Given the description of an element on the screen output the (x, y) to click on. 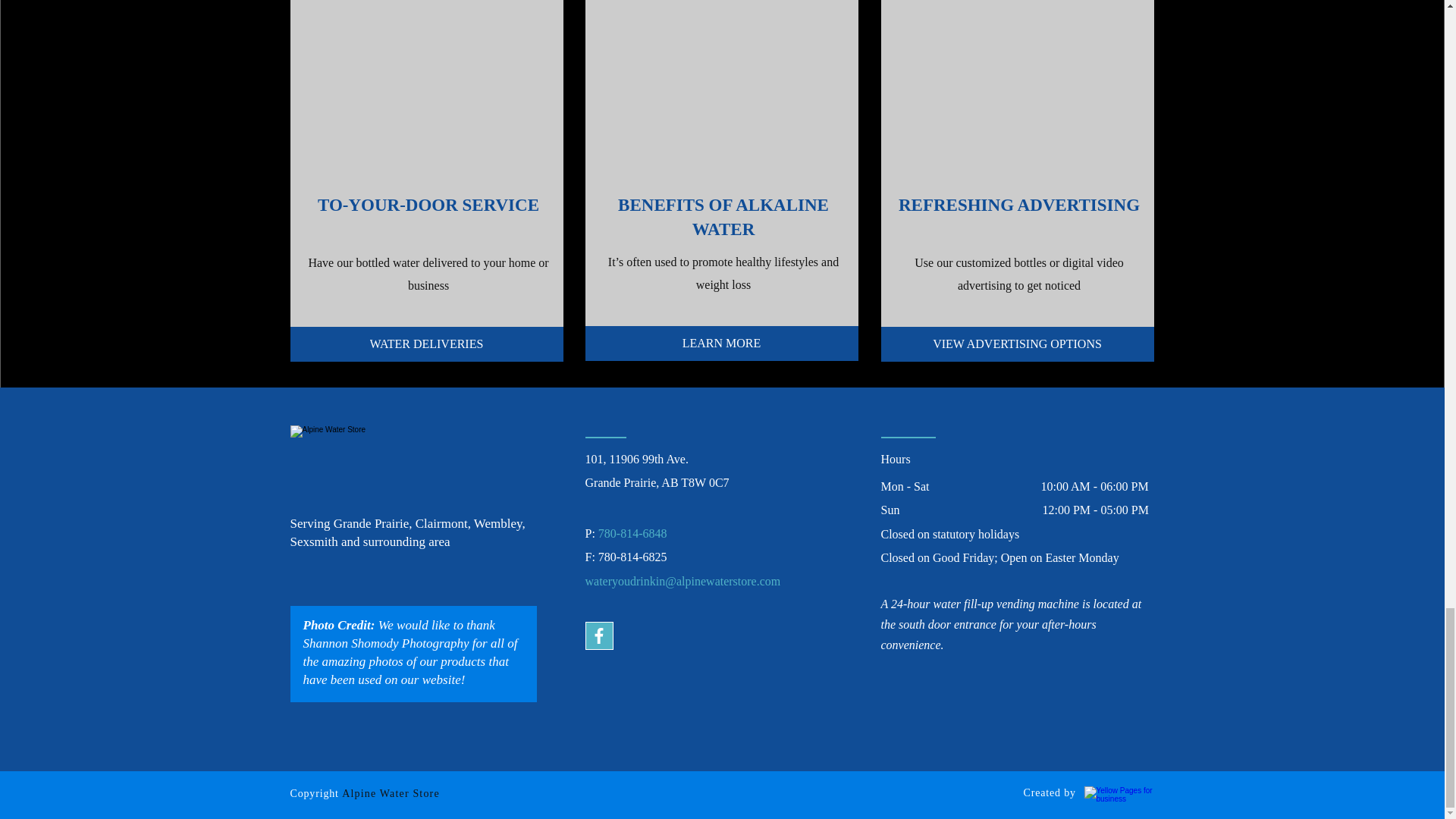
LEARN MORE (722, 343)
780-814-6848 (632, 534)
WATER DELIVERIES (425, 343)
Alpine Water Store (390, 793)
VIEW ADVERTISING OPTIONS (1017, 343)
